Given the description of an element on the screen output the (x, y) to click on. 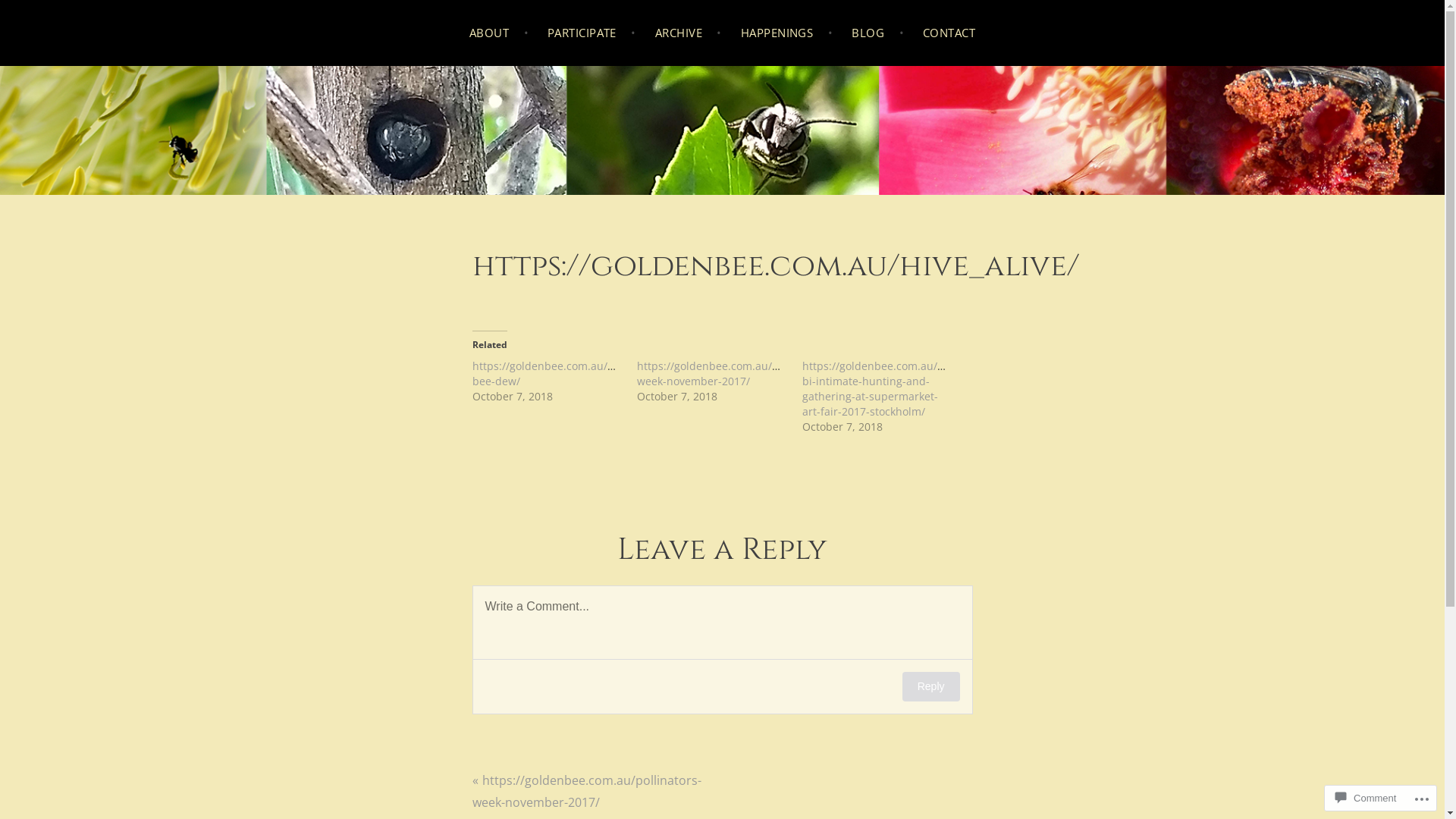
https://goldenbee.com.au/golden-bee-dew/ Element type: text (558, 373)
ABOUT Element type: text (498, 32)
https://goldenbee.com.au/pollinators-week-november-2017/ Element type: text (733, 373)
CONTACT Element type: text (948, 32)
Reply Element type: text (931, 686)
BLOG Element type: text (877, 32)
GOLDEN BEE Element type: text (115, 156)
Comment Element type: text (1365, 797)
HAPPENINGS Element type: text (786, 32)
PARTICIPATE Element type: text (591, 32)
https://goldenbee.com.au/pollinators-week-november-2017/ Element type: text (585, 790)
ARCHIVE Element type: text (688, 32)
